Given the description of an element on the screen output the (x, y) to click on. 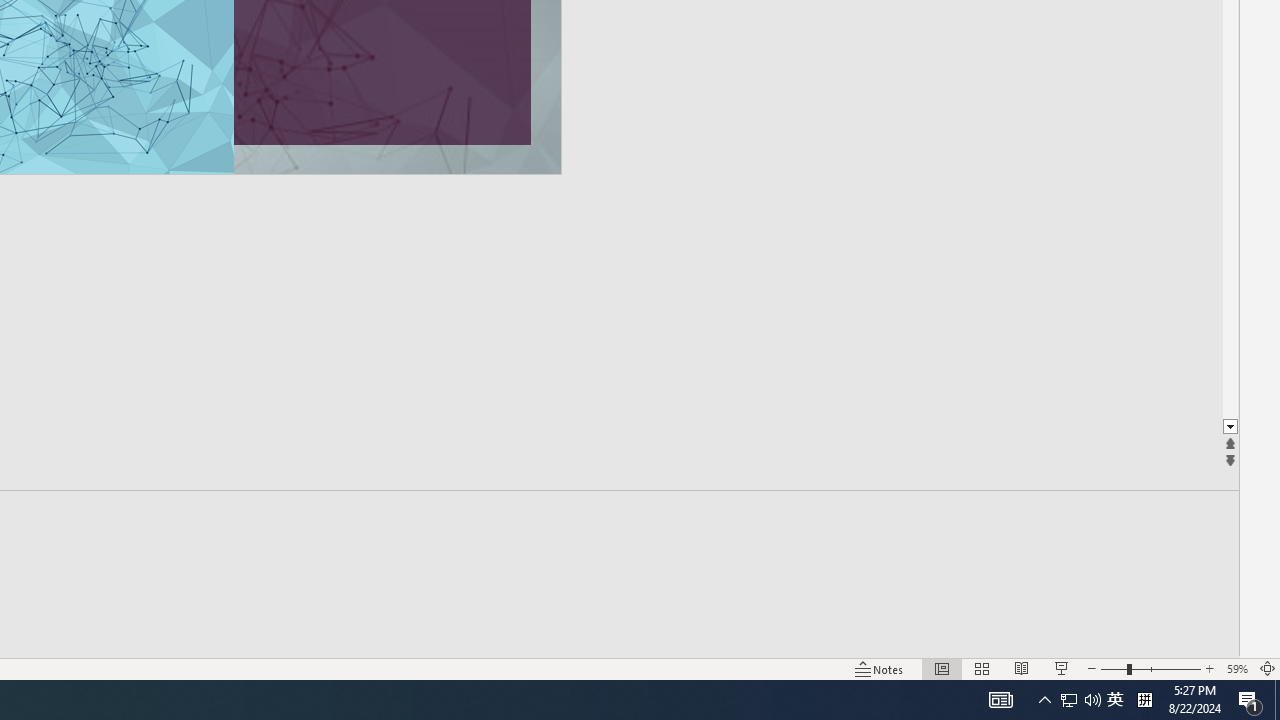
Zoom 59% (1236, 668)
